Given the description of an element on the screen output the (x, y) to click on. 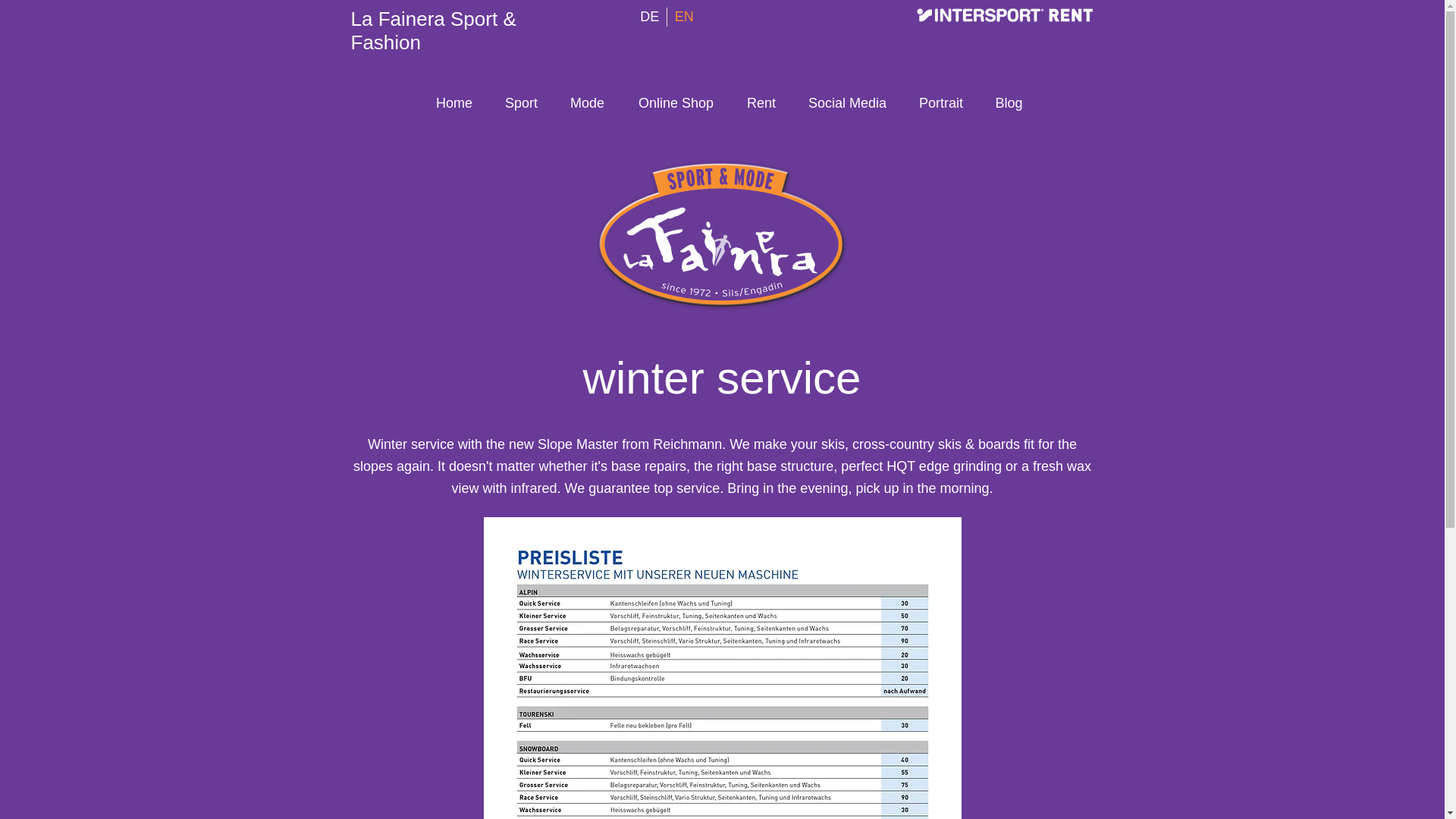
Portrait (940, 101)
Social Media (847, 101)
Blog (1008, 101)
EN (683, 16)
Online Shop (675, 101)
Home (454, 101)
DE (648, 16)
